Given the description of an element on the screen output the (x, y) to click on. 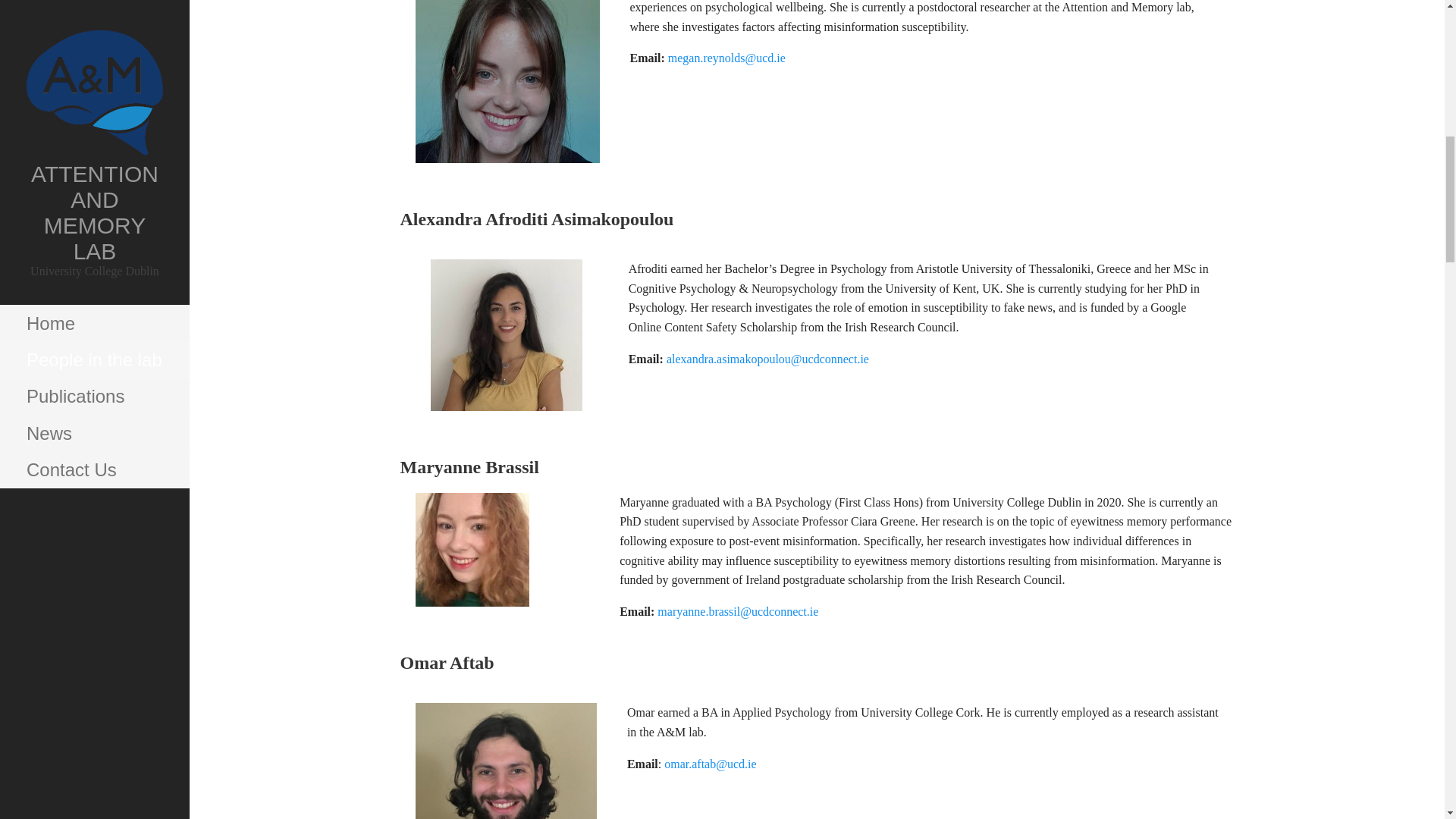
Megan (506, 81)
Omar (505, 760)
Afroditi2 (506, 335)
Maryanne Brassil website image (471, 549)
